Given the description of an element on the screen output the (x, y) to click on. 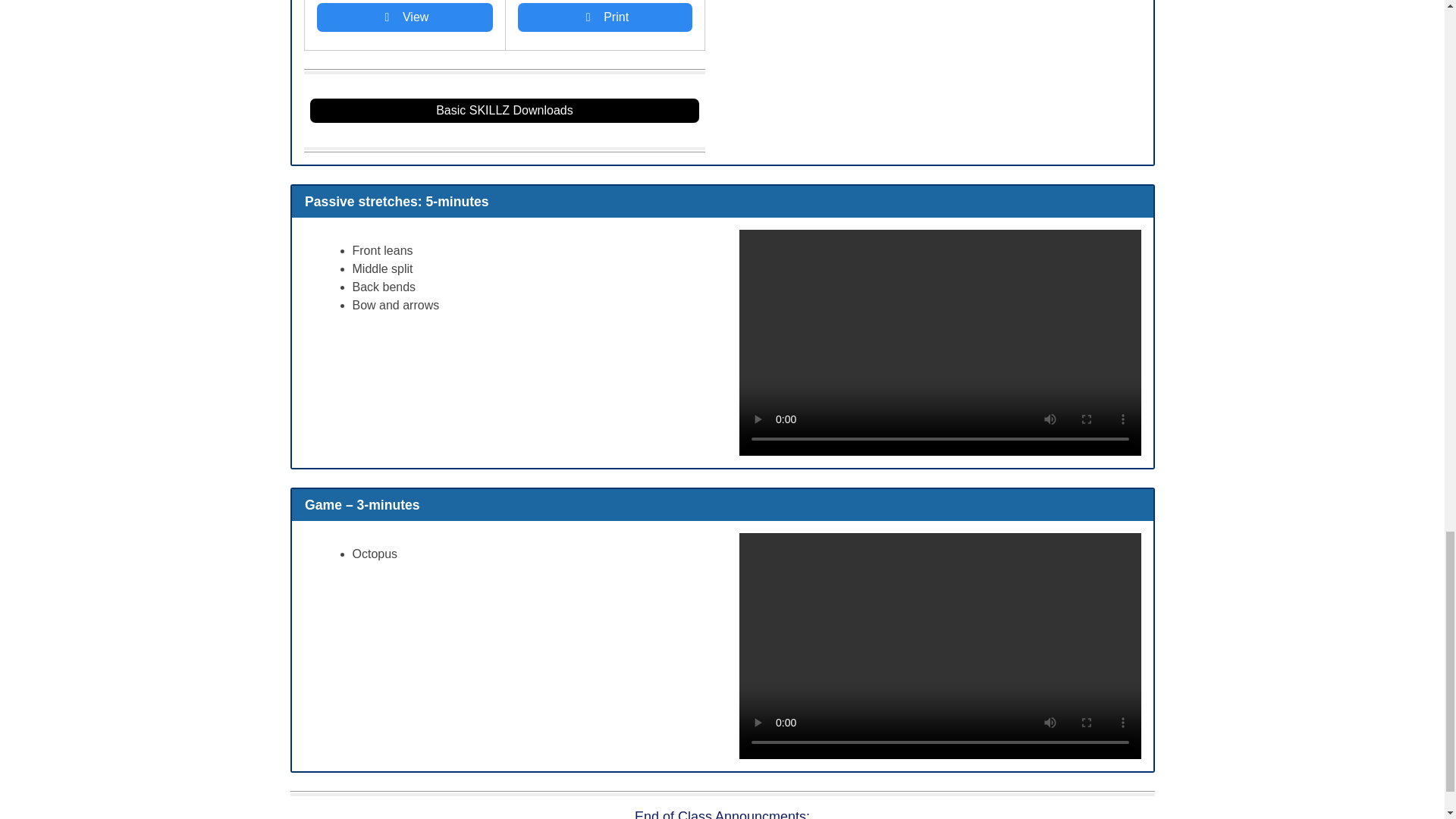
Print (605, 17)
View (405, 17)
Basic SKILLZ Downloads (503, 110)
